Given the description of an element on the screen output the (x, y) to click on. 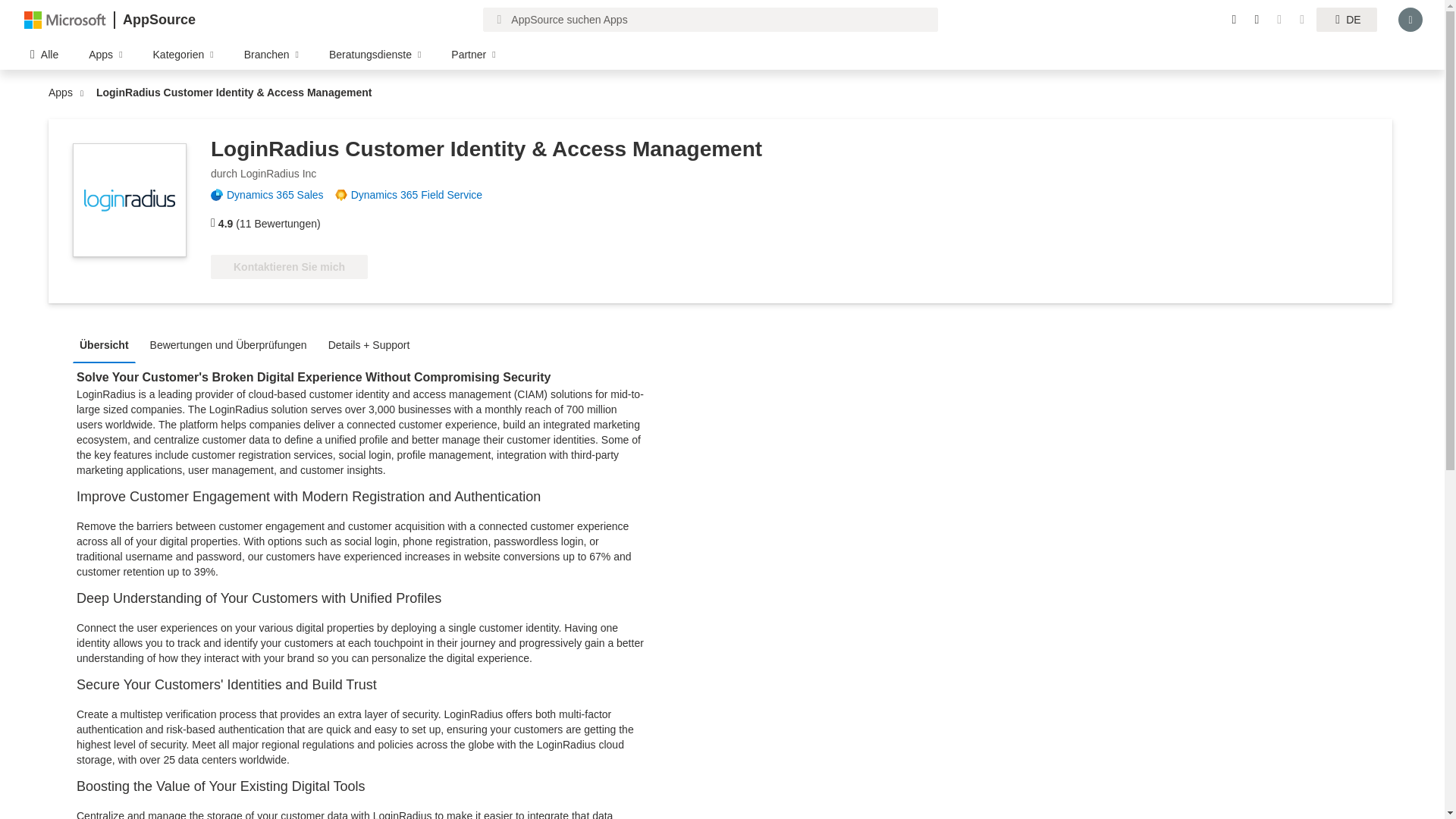
Dynamics 365 Sales (280, 194)
AppSource (158, 19)
Kontaktieren Sie mich (289, 266)
Microsoft (65, 18)
Dynamics 365 Field Service (422, 194)
Dynamics 365 Sales (280, 194)
Dynamics 365 Field Service (422, 194)
Apps (64, 92)
